Given the description of an element on the screen output the (x, y) to click on. 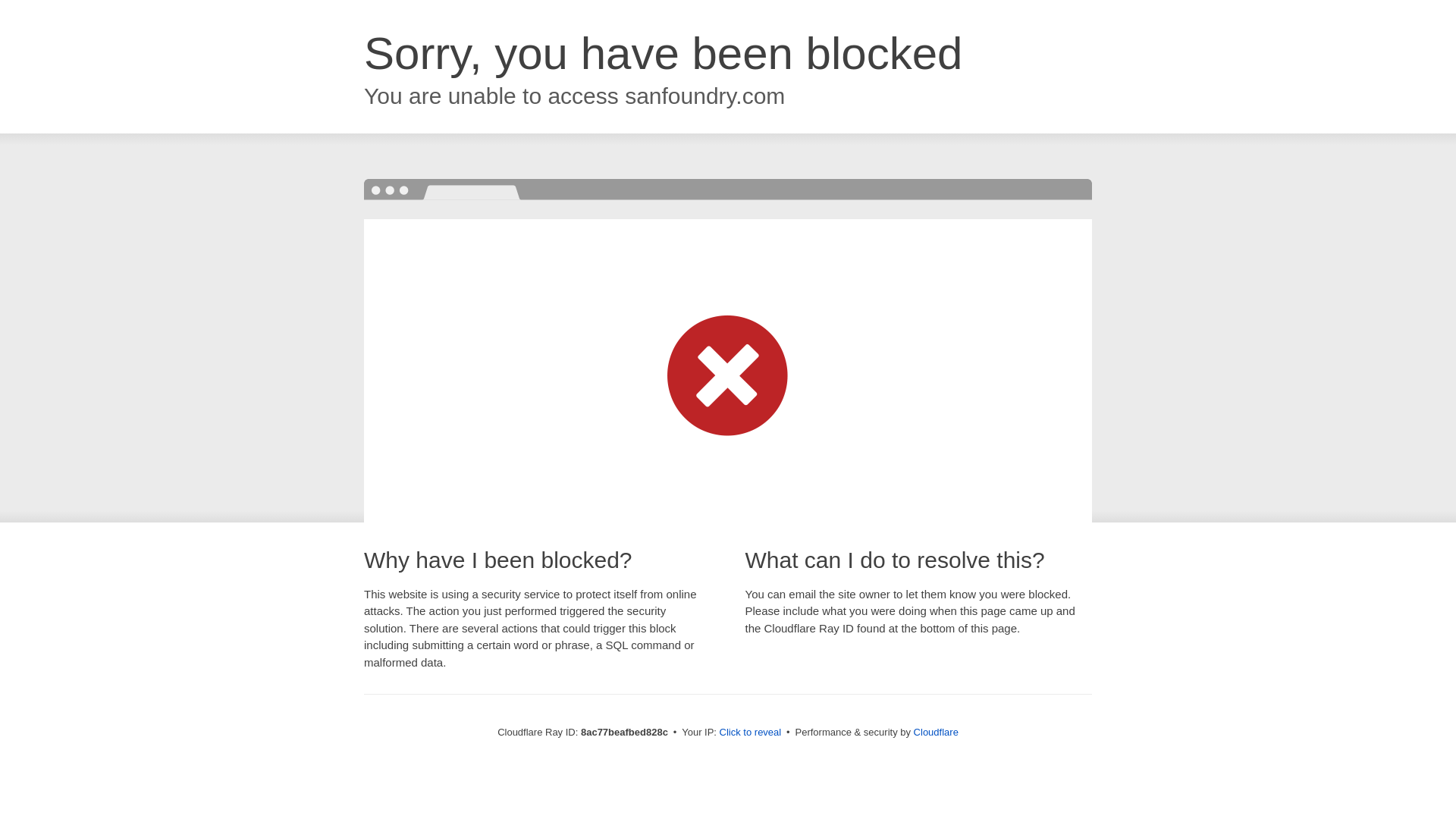
Cloudflare (936, 731)
Click to reveal (750, 732)
